Given the description of an element on the screen output the (x, y) to click on. 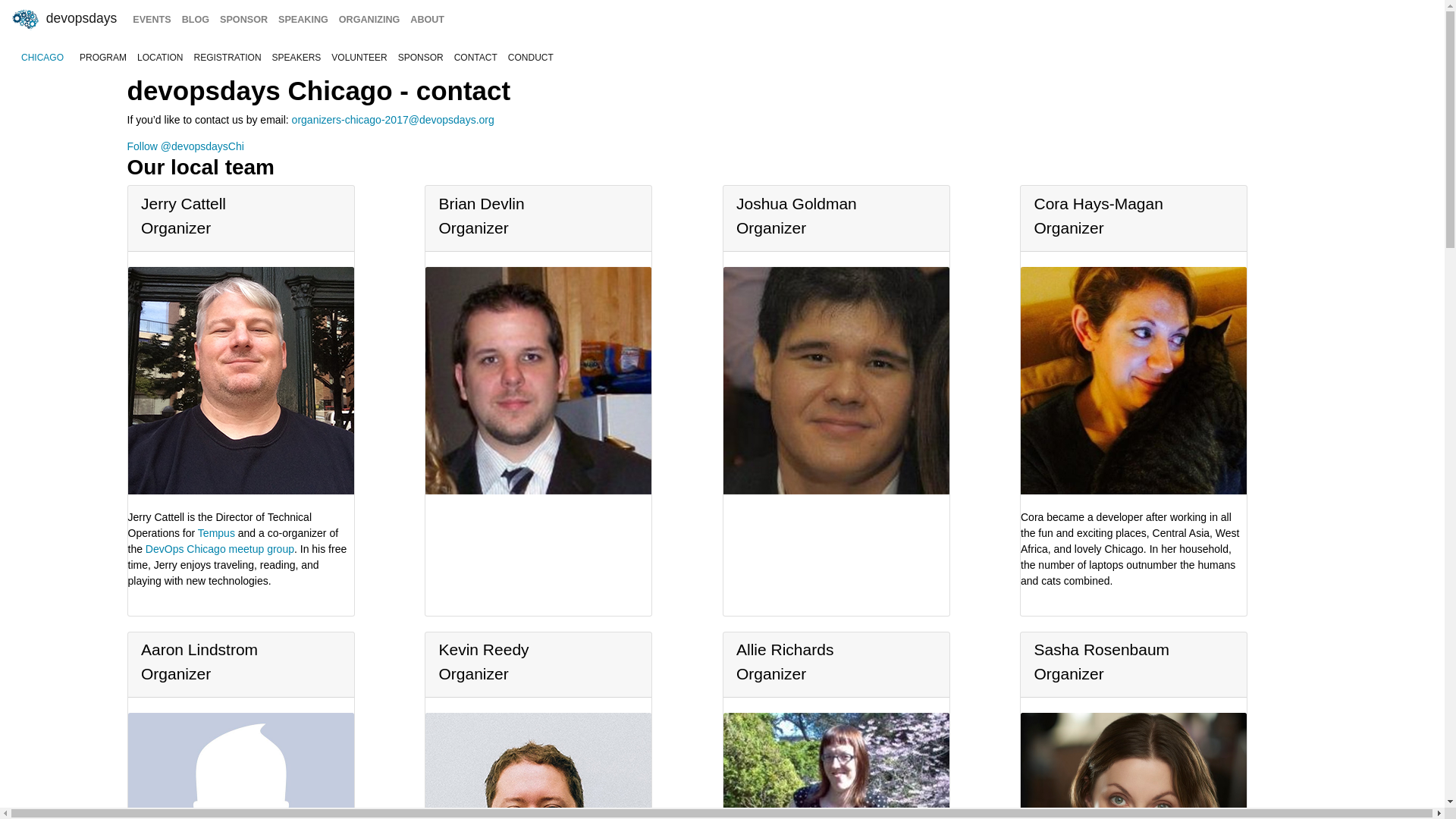
REGISTRATION (226, 57)
SPEAKERS (296, 57)
ABOUT (426, 19)
SPONSOR (420, 57)
SPEAKING (303, 19)
devopsdays (63, 19)
BLOG (195, 19)
ORGANIZING (368, 19)
EVENTS (152, 19)
DevOps Chicago meetup group (219, 548)
